Given the description of an element on the screen output the (x, y) to click on. 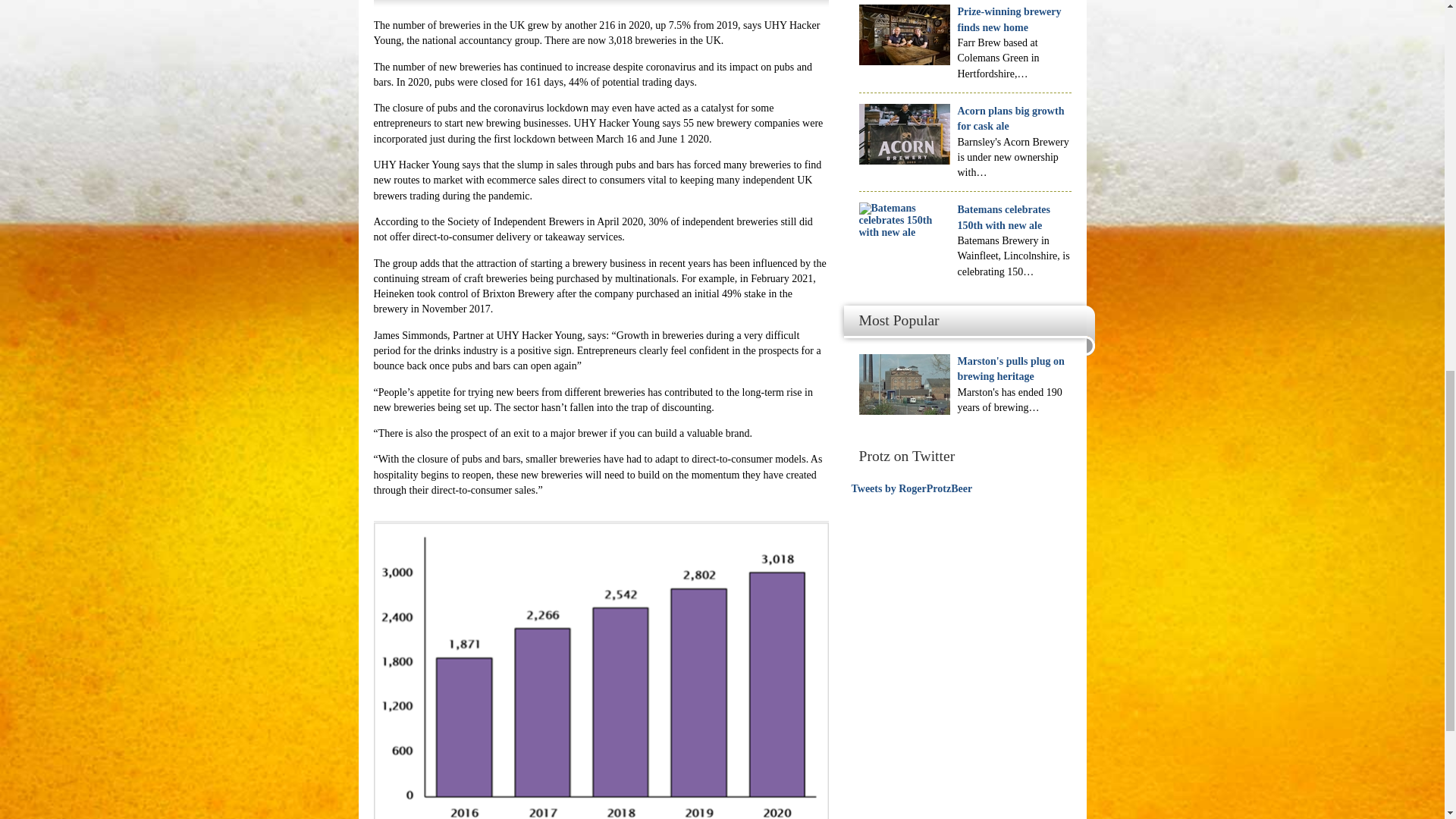
Acorn plans big growth for cask ale (1010, 118)
Prize-winning brewery finds new home (1008, 18)
